Given the description of an element on the screen output the (x, y) to click on. 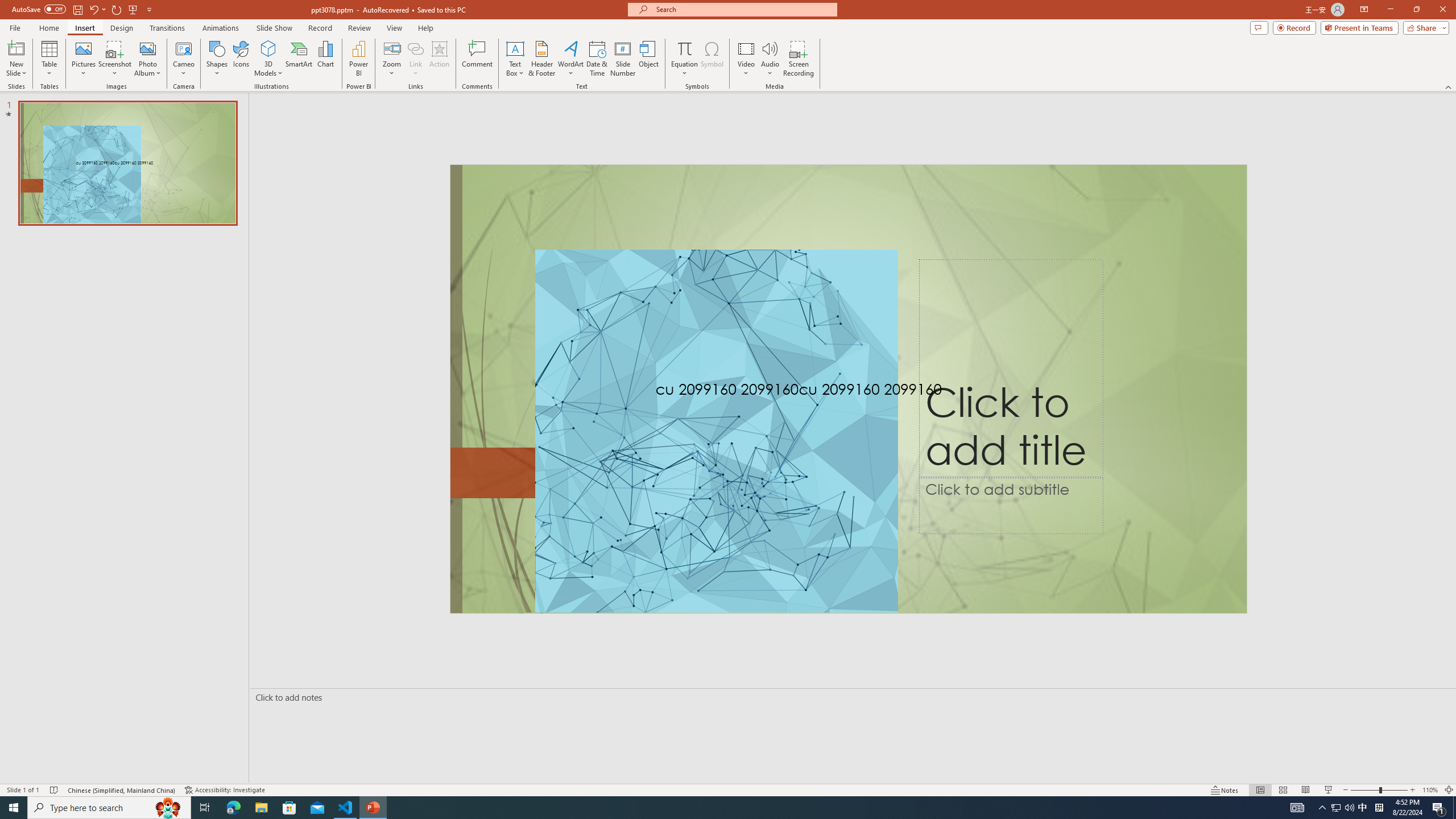
Header & Footer... (541, 58)
Link (415, 58)
Symbol... (711, 58)
3D Models (268, 48)
Table (49, 58)
